Given the description of an element on the screen output the (x, y) to click on. 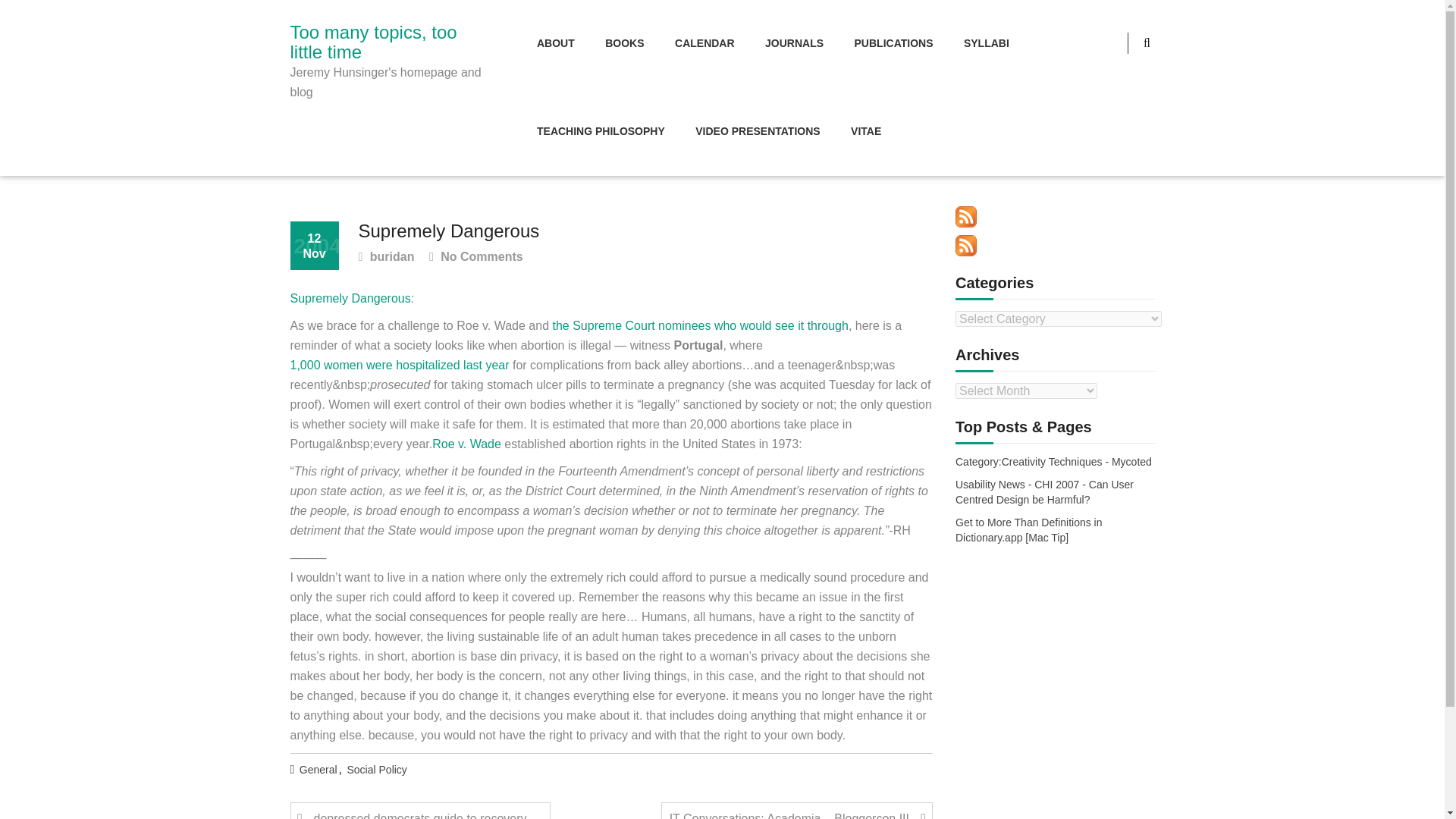
No Comments (475, 257)
1,000 women were hospitalized last year (398, 365)
Subscribe to comments (965, 245)
General (318, 770)
Social Policy (377, 770)
buridan (385, 257)
Roe v. Wade (466, 444)
VIDEO PRESENTATIONS (756, 131)
CALENDAR (704, 43)
Subscribe to posts (965, 216)
